Given the description of an element on the screen output the (x, y) to click on. 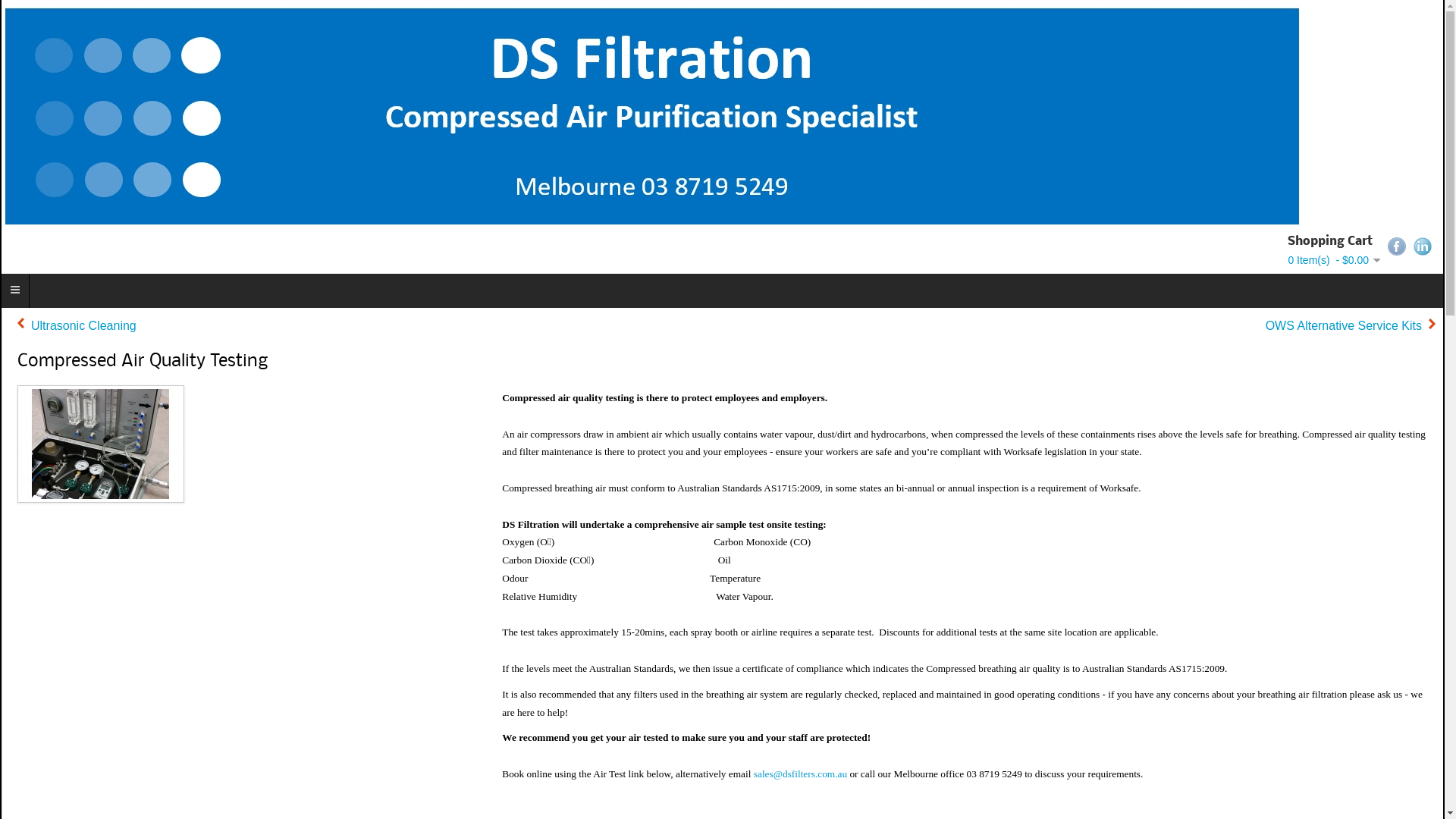
Compressed Air Quality Testing Element type: hover (100, 443)
LinkedIn Element type: text (1422, 246)
sales@dsfilters.com.au Element type: text (800, 773)
OWS Alternative Service Kits Element type: text (1350, 325)
Facebook Element type: text (1396, 246)
Ultrasonic Cleaning Element type: text (76, 325)
0 Item(s)  - $0.00 Element type: text (1333, 260)
